Given the description of an element on the screen output the (x, y) to click on. 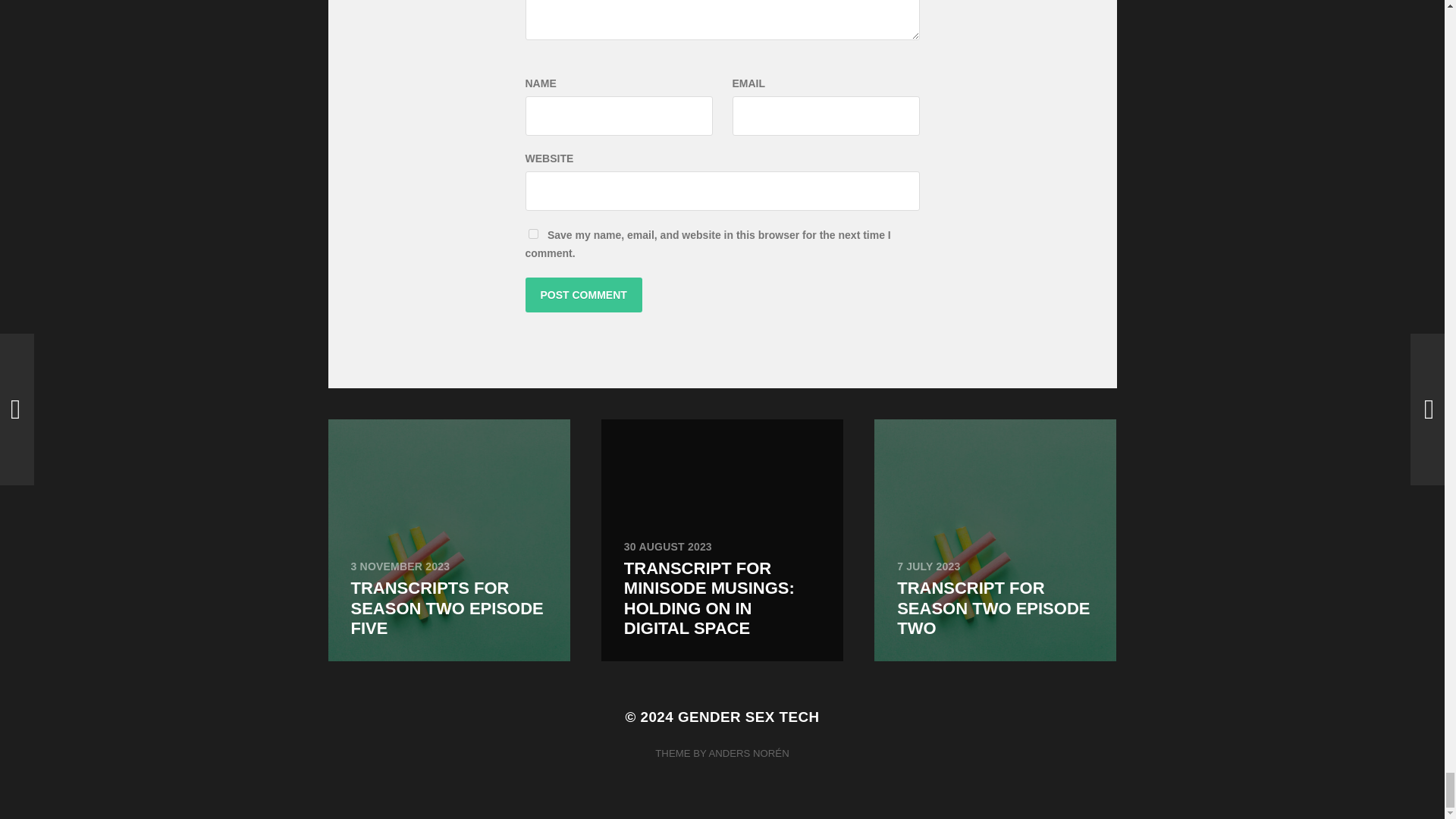
yes (532, 234)
Post Comment (583, 294)
